Given the description of an element on the screen output the (x, y) to click on. 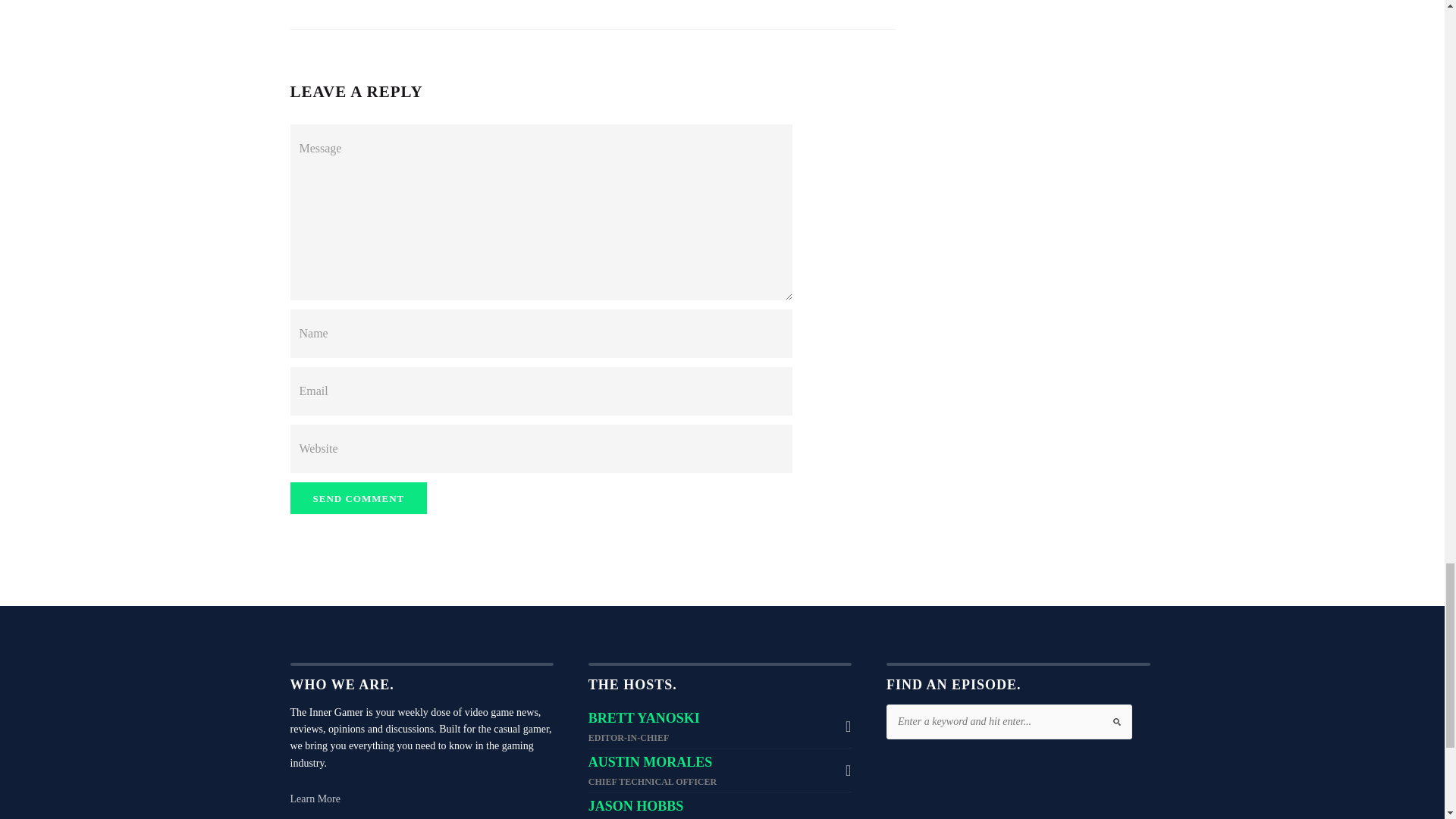
Send Comment (357, 498)
Send Comment (357, 498)
Learn More (314, 798)
BRETT YANOSKI (644, 717)
JASON HOBBS (636, 806)
AUSTIN MORALES (650, 761)
